Given the description of an element on the screen output the (x, y) to click on. 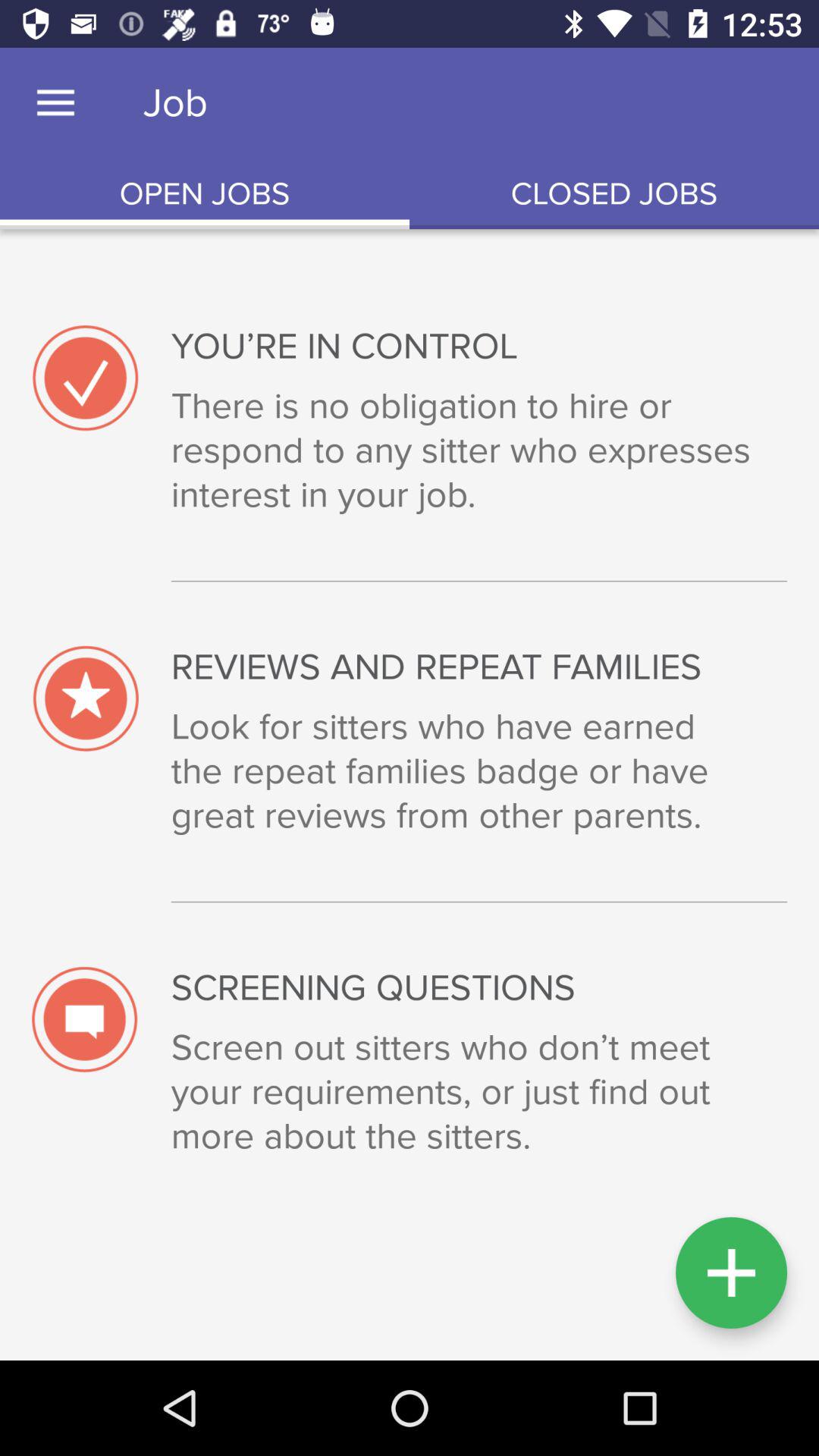
tap item above the you re in item (614, 194)
